Given the description of an element on the screen output the (x, y) to click on. 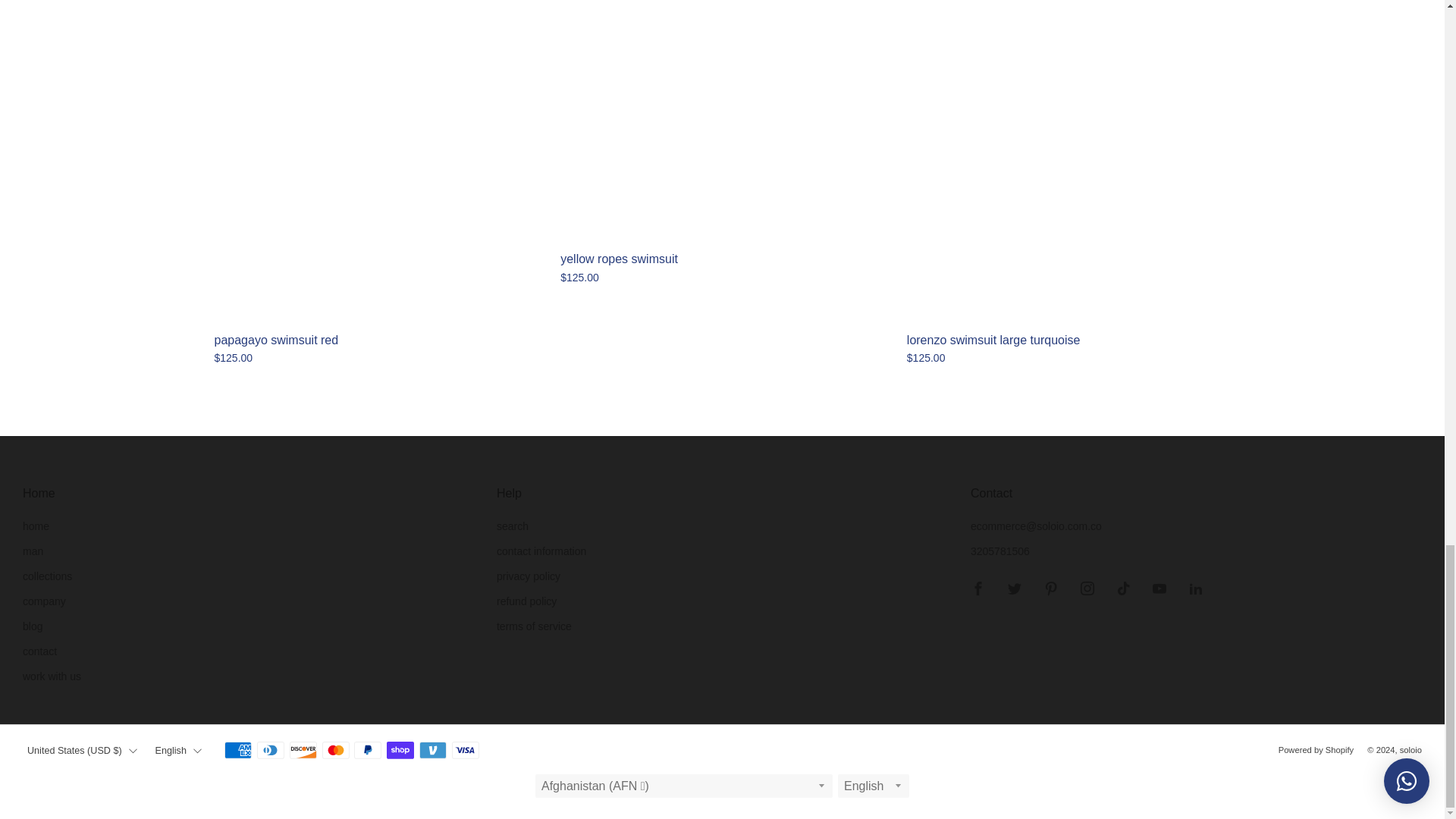
papagayo swimsuit red (376, 357)
papagayo swimsuit red (376, 340)
